Given the description of an element on the screen output the (x, y) to click on. 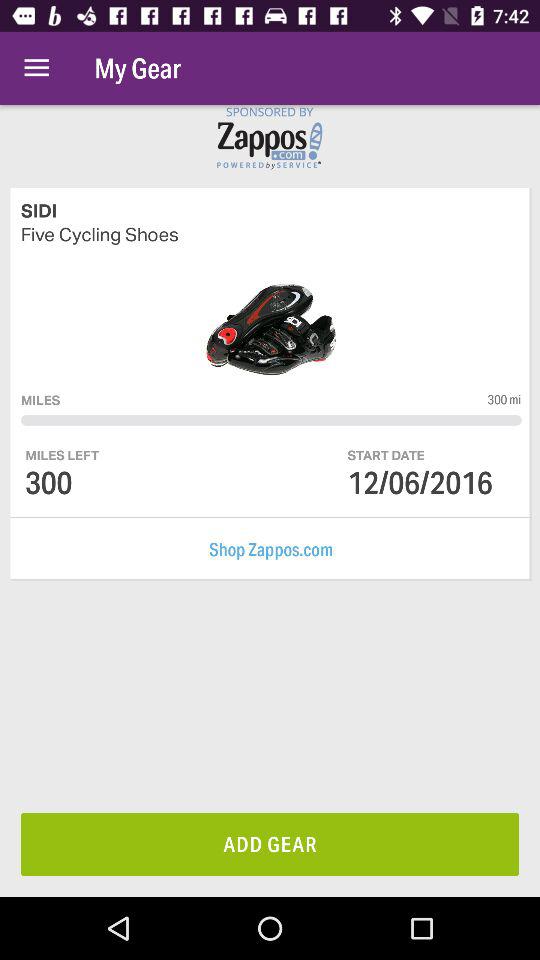
click the item next to the start date icon (62, 454)
